Given the description of an element on the screen output the (x, y) to click on. 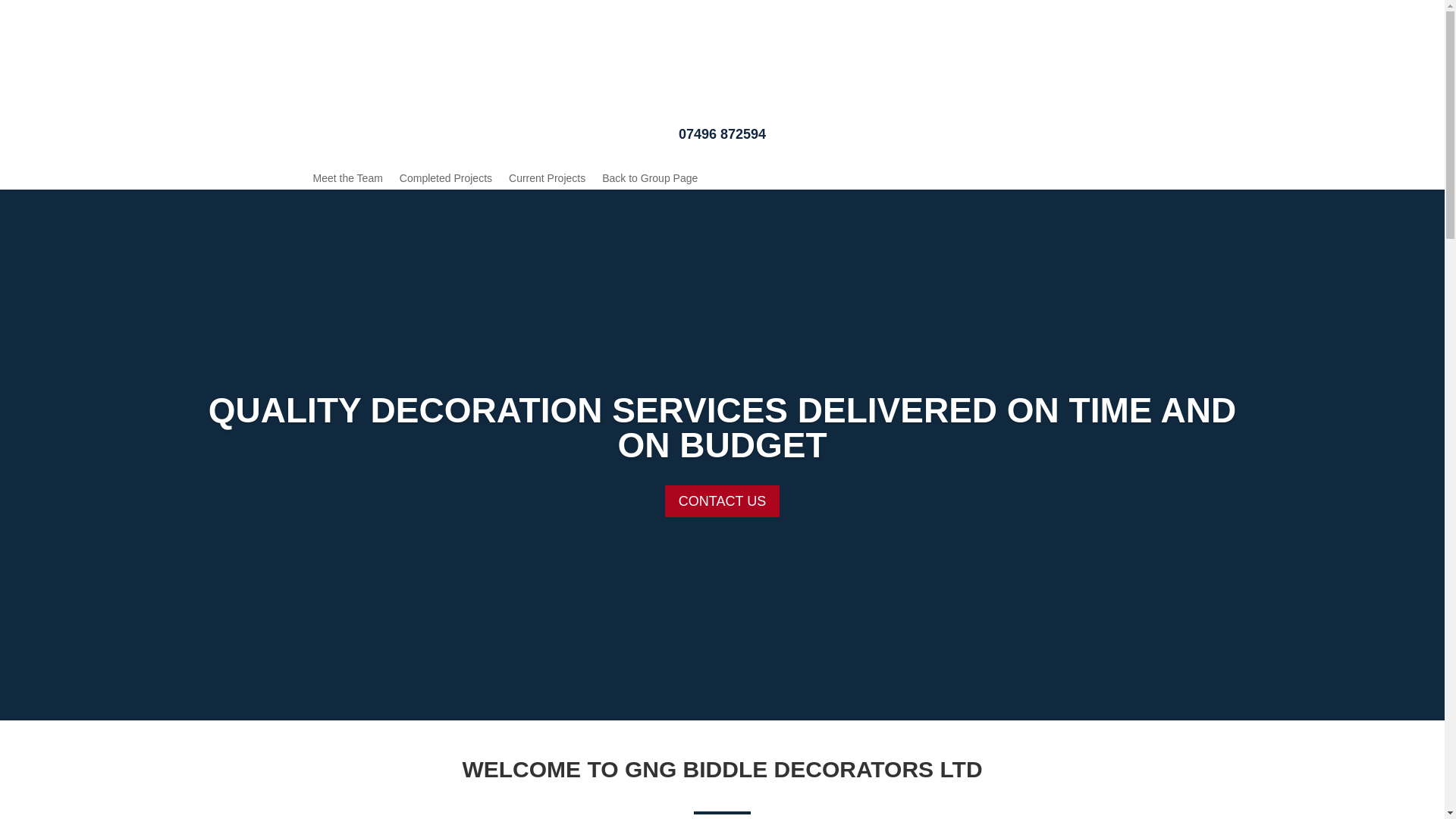
Current Projects (546, 180)
Completed Projects (445, 180)
Meet the Team (347, 180)
QUALITY DECORATION SERVICES DELIVERED ON TIME AND ON BUDGET (722, 475)
Back to Group Page (649, 180)
CONTACT US (721, 544)
